Given the description of an element on the screen output the (x, y) to click on. 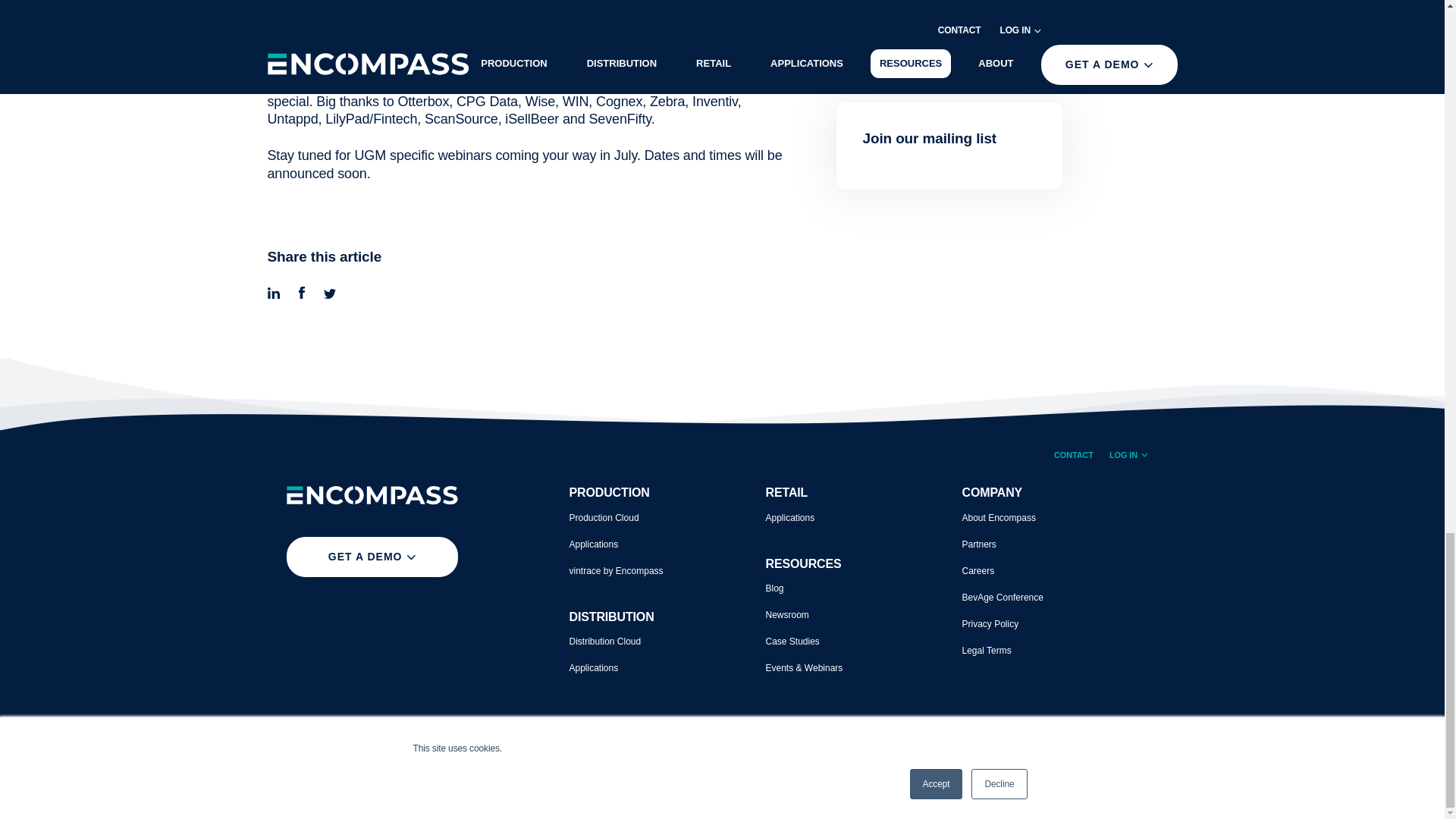
Careers (977, 570)
Production Cloud (604, 517)
RETAIL (786, 492)
Applications (593, 543)
vintrace by Encompass (615, 570)
CONTACT (1073, 455)
GET A DEMO (372, 557)
BevAge Conference (1001, 597)
Applications (790, 517)
Newsroom (787, 614)
